Given the description of an element on the screen output the (x, y) to click on. 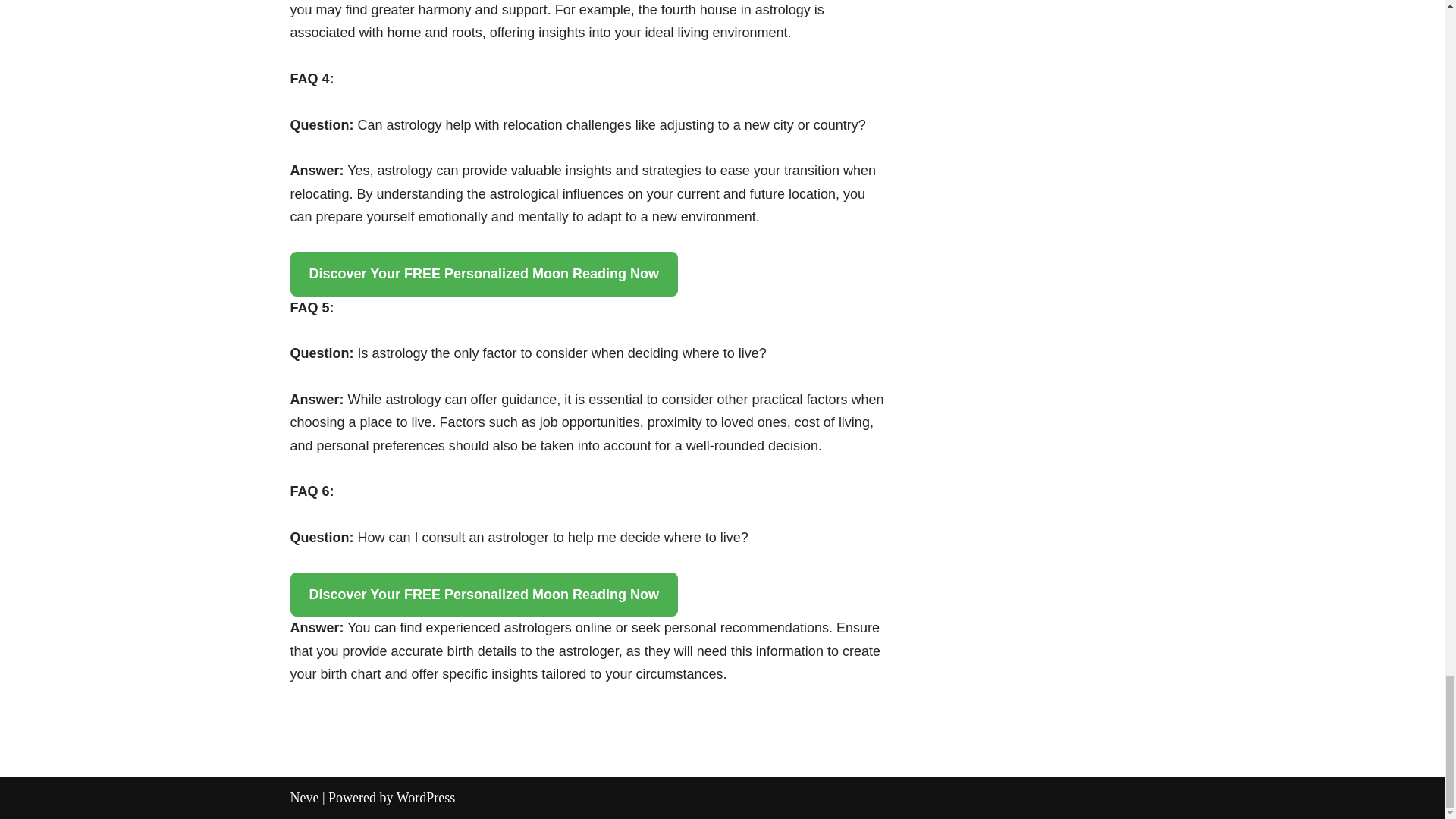
Discover Your FREE Personalized Moon Reading Now (483, 273)
Discover Your FREE Personalized Moon Reading Now (483, 594)
